Given the description of an element on the screen output the (x, y) to click on. 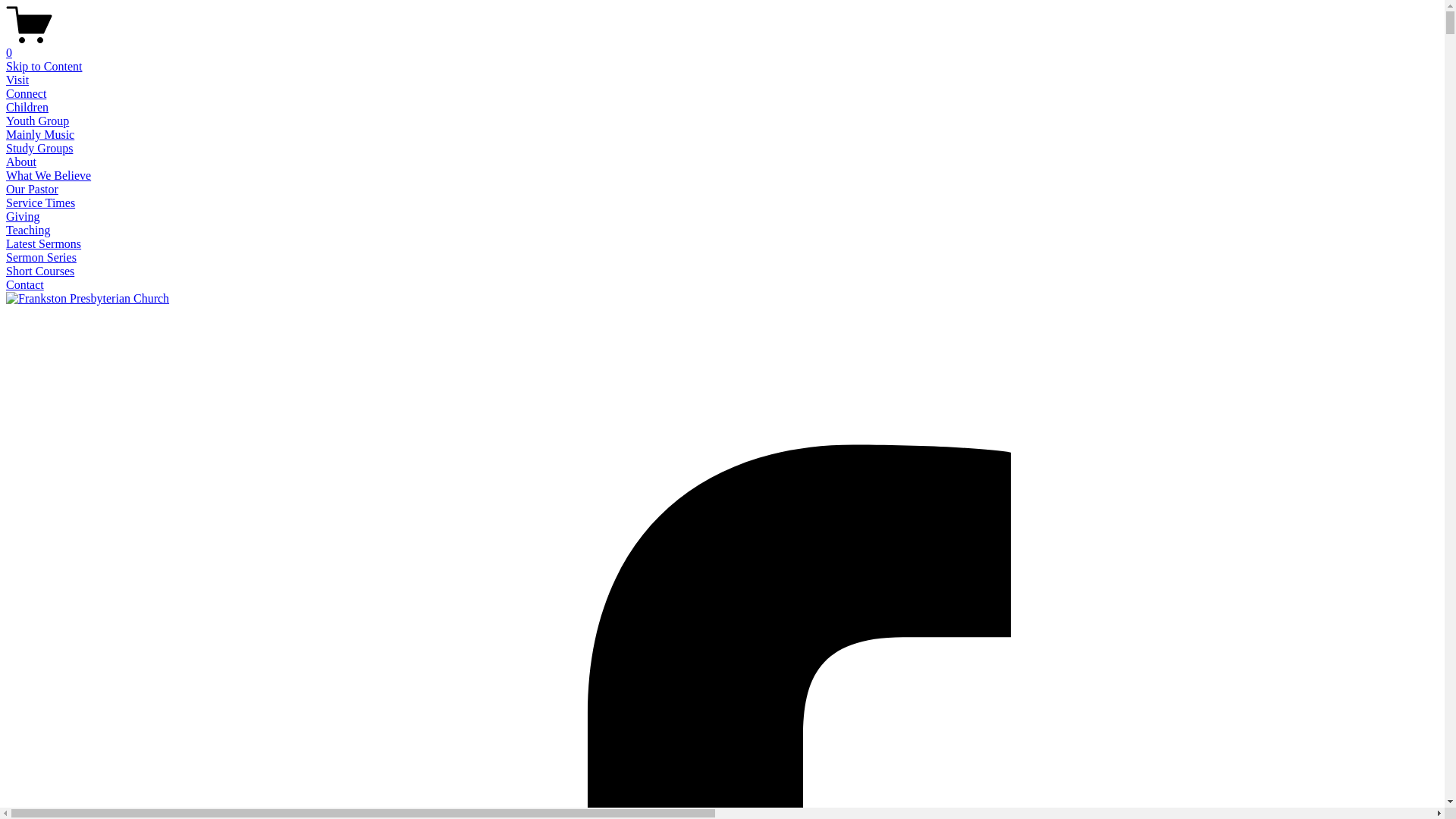
Latest Sermons Element type: text (43, 243)
Mainly Music Element type: text (40, 134)
Visit Element type: text (17, 79)
0 Element type: text (722, 45)
Sermon Series Element type: text (41, 257)
Youth Group Element type: text (37, 120)
Service Times Element type: text (40, 202)
What We Believe Element type: text (48, 175)
Connect Element type: text (26, 93)
About Element type: text (21, 161)
Study Groups Element type: text (39, 147)
Children Element type: text (27, 106)
Skip to Content Element type: text (43, 65)
Our Pastor Element type: text (32, 188)
Short Courses Element type: text (40, 270)
Contact Element type: text (24, 284)
Teaching Element type: text (28, 229)
Giving Element type: text (22, 216)
